Given the description of an element on the screen output the (x, y) to click on. 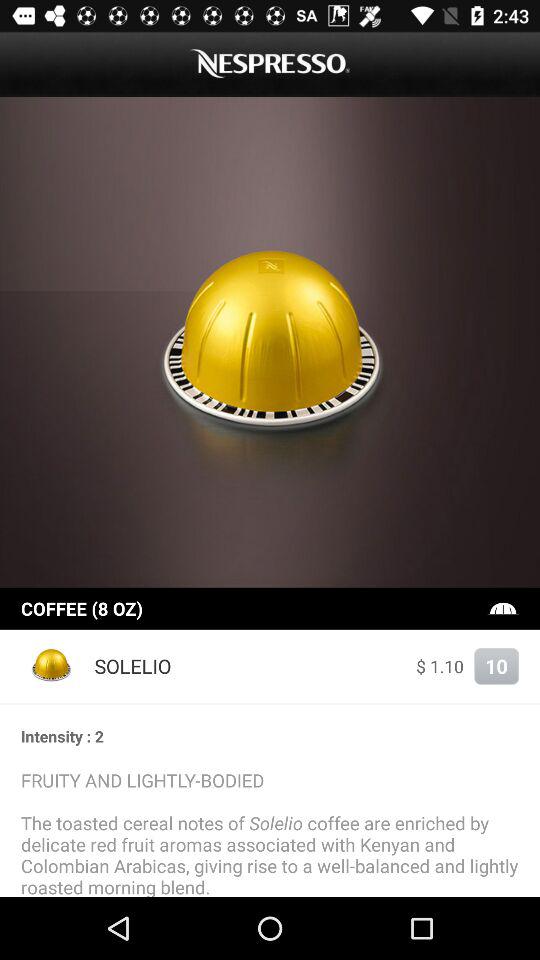
launch the item to the left of solelio item (52, 665)
